Given the description of an element on the screen output the (x, y) to click on. 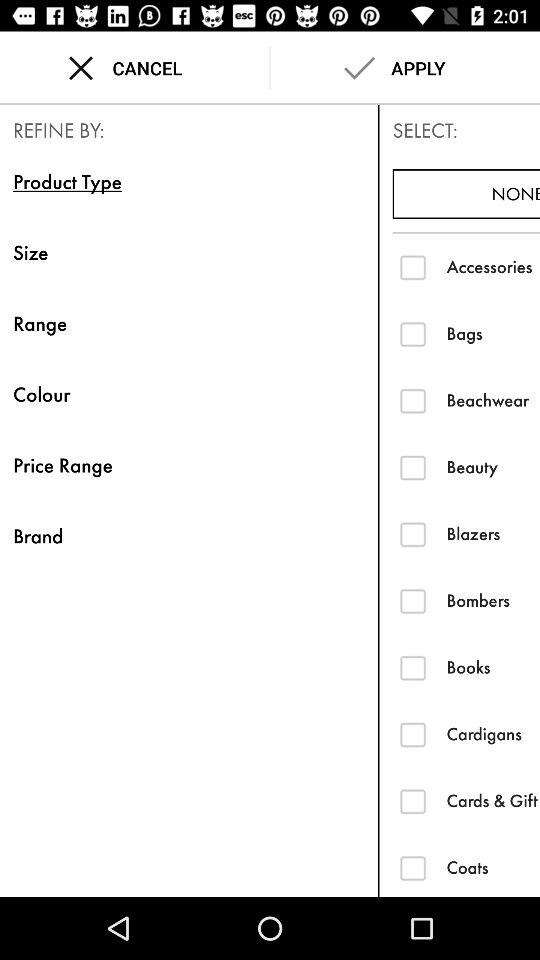
select cordigans product (412, 734)
